Given the description of an element on the screen output the (x, y) to click on. 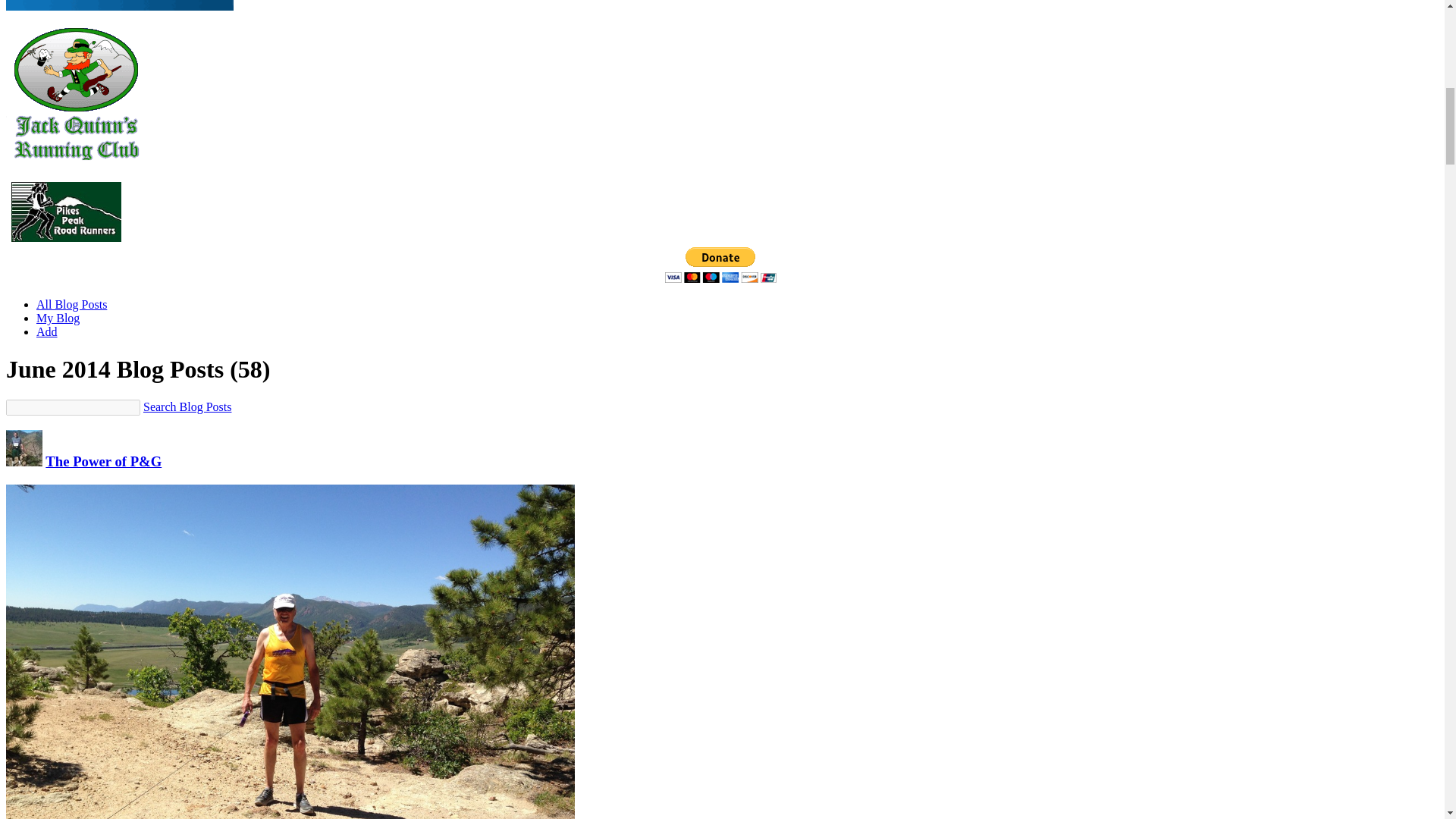
Bill Beagle (23, 461)
All Blog Posts (71, 304)
Search Blog Posts (186, 406)
Search Blog Posts (186, 406)
My Blog (58, 318)
Add (47, 331)
